Given the description of an element on the screen output the (x, y) to click on. 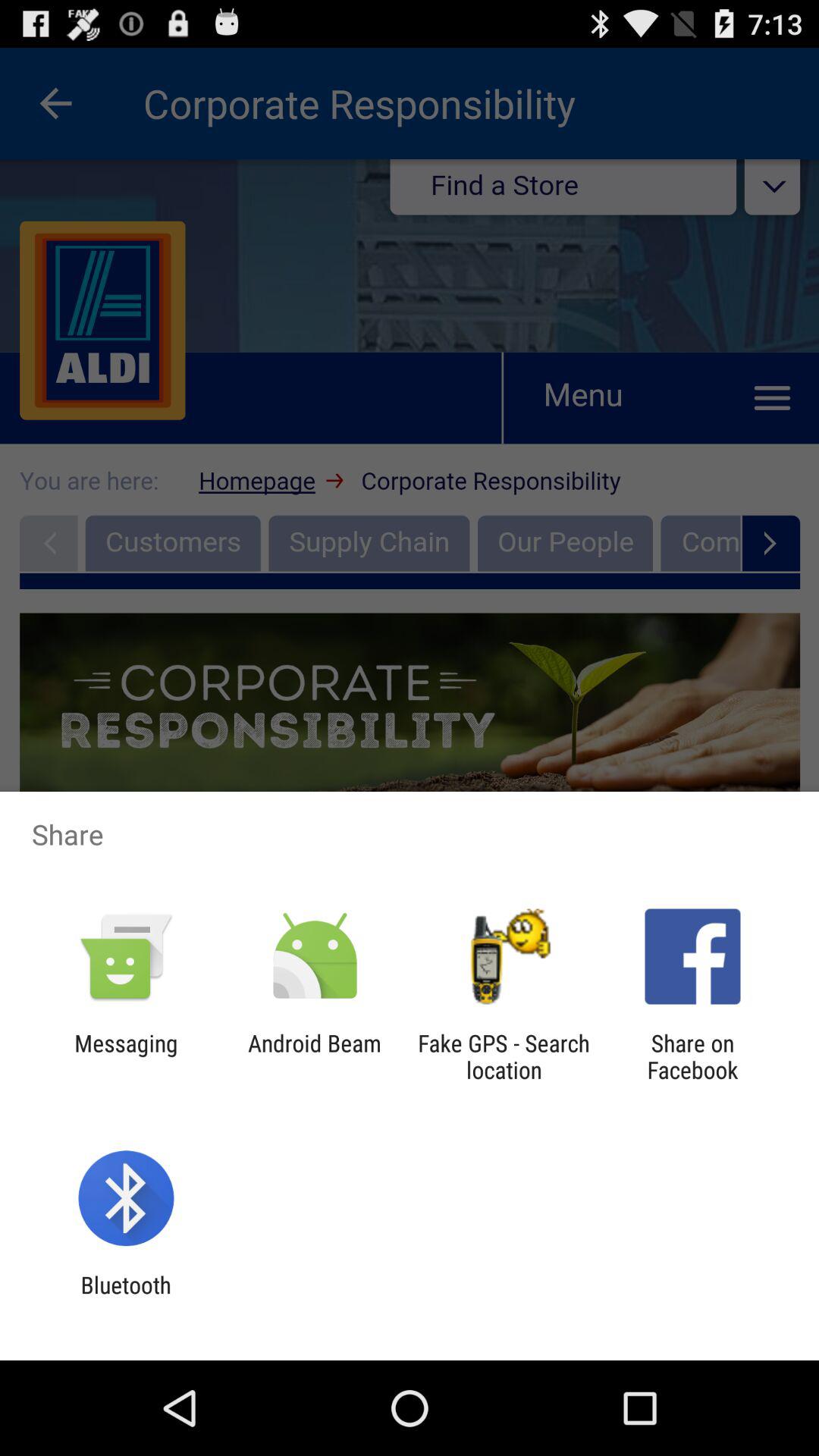
jump to messaging (126, 1056)
